Given the description of an element on the screen output the (x, y) to click on. 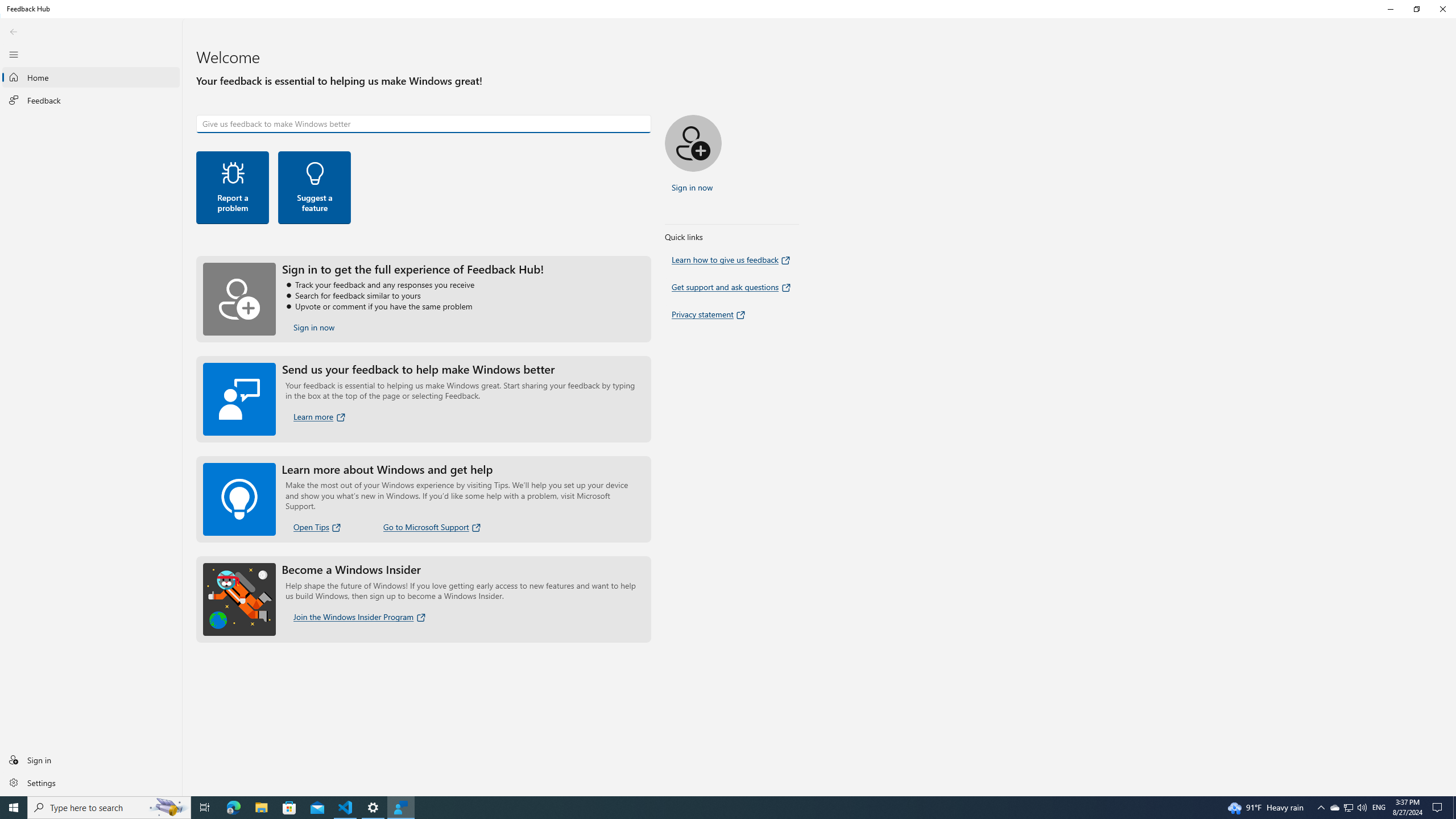
Start (13, 807)
Feedback (90, 100)
Vertical (1452, 407)
Give us feedback to make Windows better (423, 123)
Report a problem (232, 187)
Microsoft Edge (233, 807)
Join the Windows Insider Program (359, 616)
Settings (1347, 807)
Minimize Feedback Hub (90, 782)
Sign in (1390, 9)
Home (90, 759)
Type here to search (90, 77)
